Given the description of an element on the screen output the (x, y) to click on. 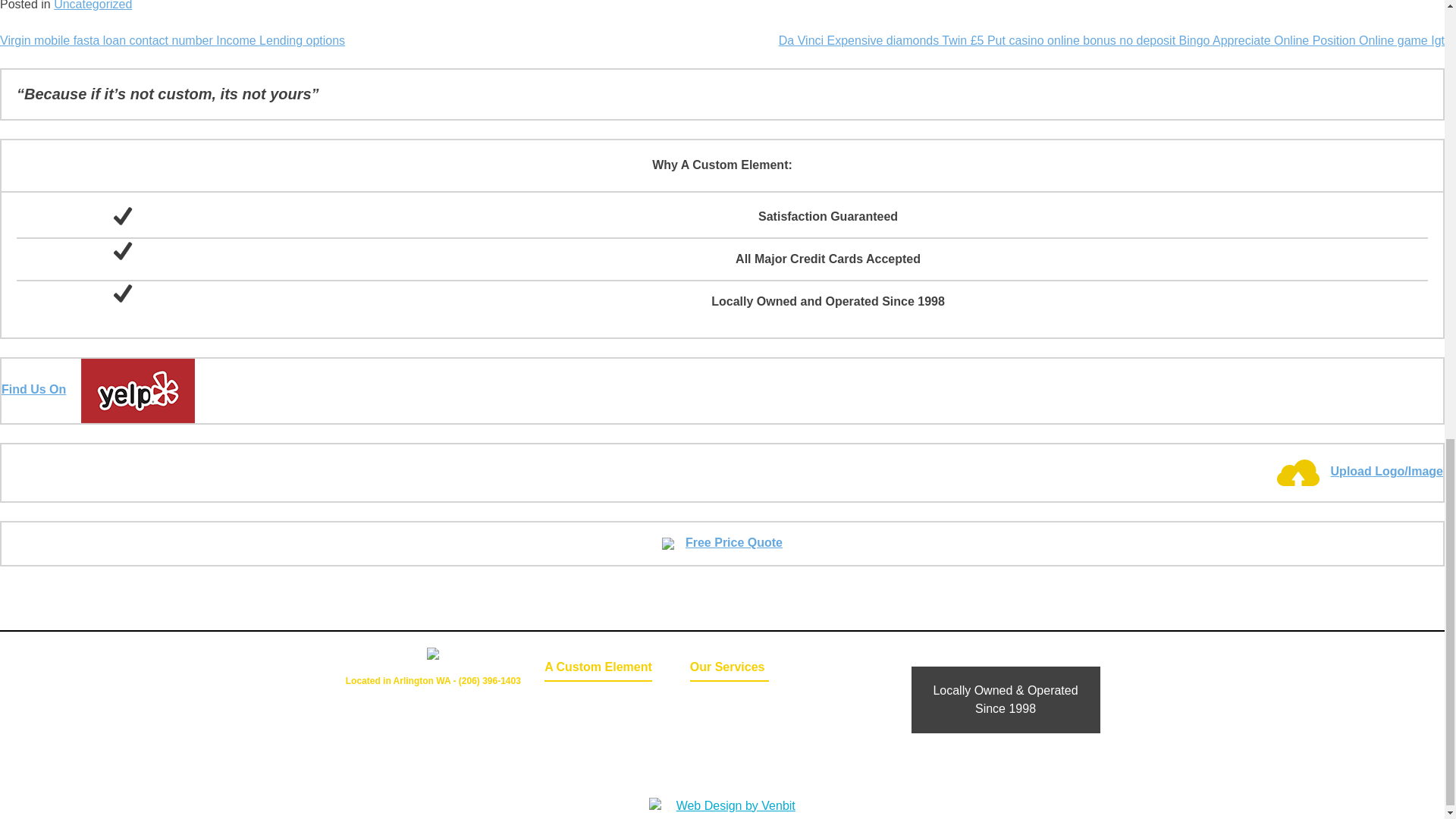
FAQ (729, 742)
Free Price Quote (722, 542)
About Us (577, 742)
Home (577, 699)
Find Us On (98, 389)
Web Design by Venbit (729, 805)
Gallery (729, 699)
Uncategorized (92, 5)
Services (729, 721)
Contact Us (577, 721)
Textile Truffle (729, 762)
